Given the description of an element on the screen output the (x, y) to click on. 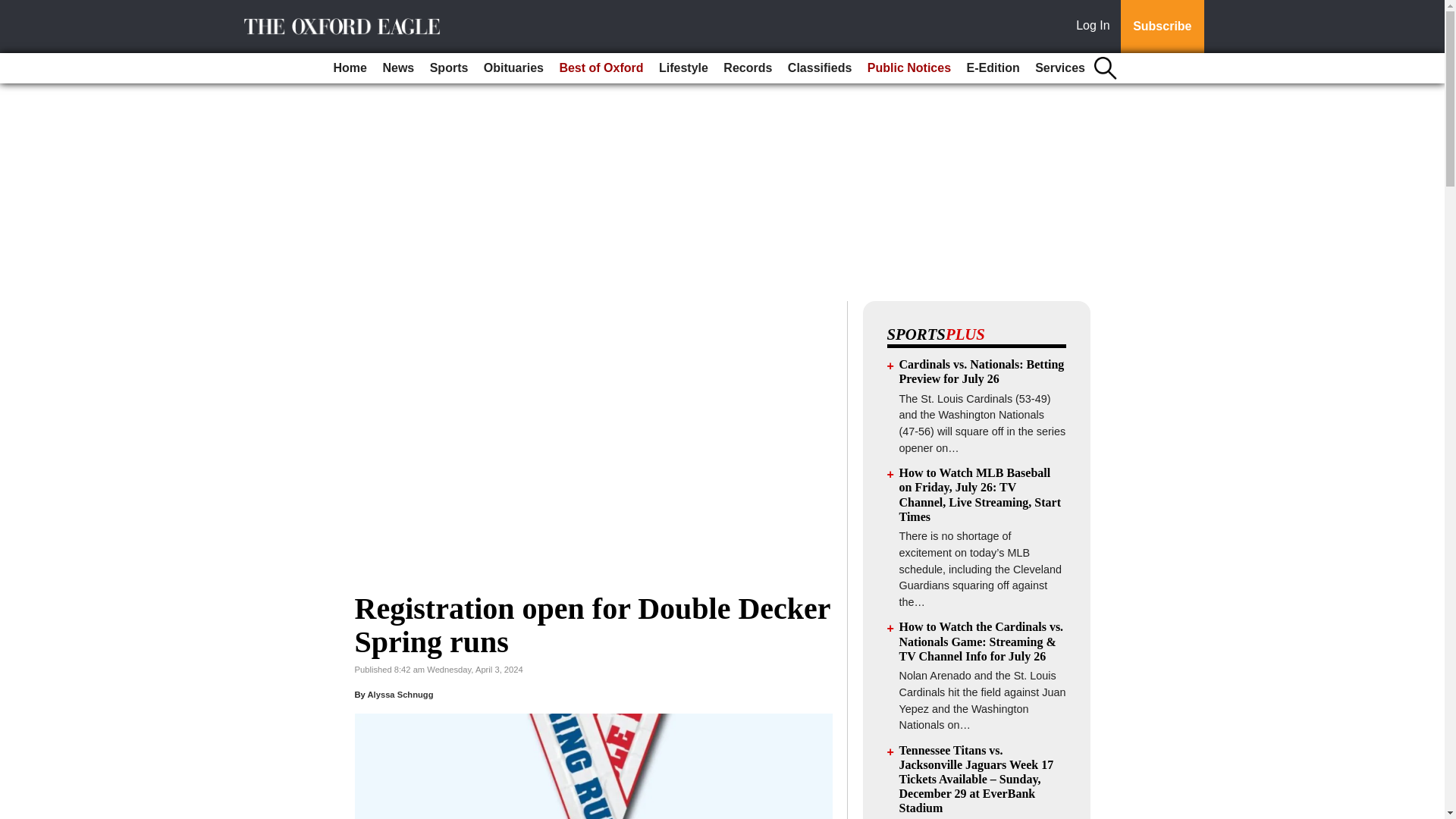
Log In (1095, 26)
Best of Oxford (601, 68)
Classifieds (819, 68)
Lifestyle (683, 68)
Home (349, 68)
News (397, 68)
Services (1059, 68)
Public Notices (908, 68)
E-Edition (992, 68)
Go (13, 9)
Obituaries (513, 68)
Records (747, 68)
Subscribe (1162, 26)
Alyssa Schnugg (399, 694)
